Given the description of an element on the screen output the (x, y) to click on. 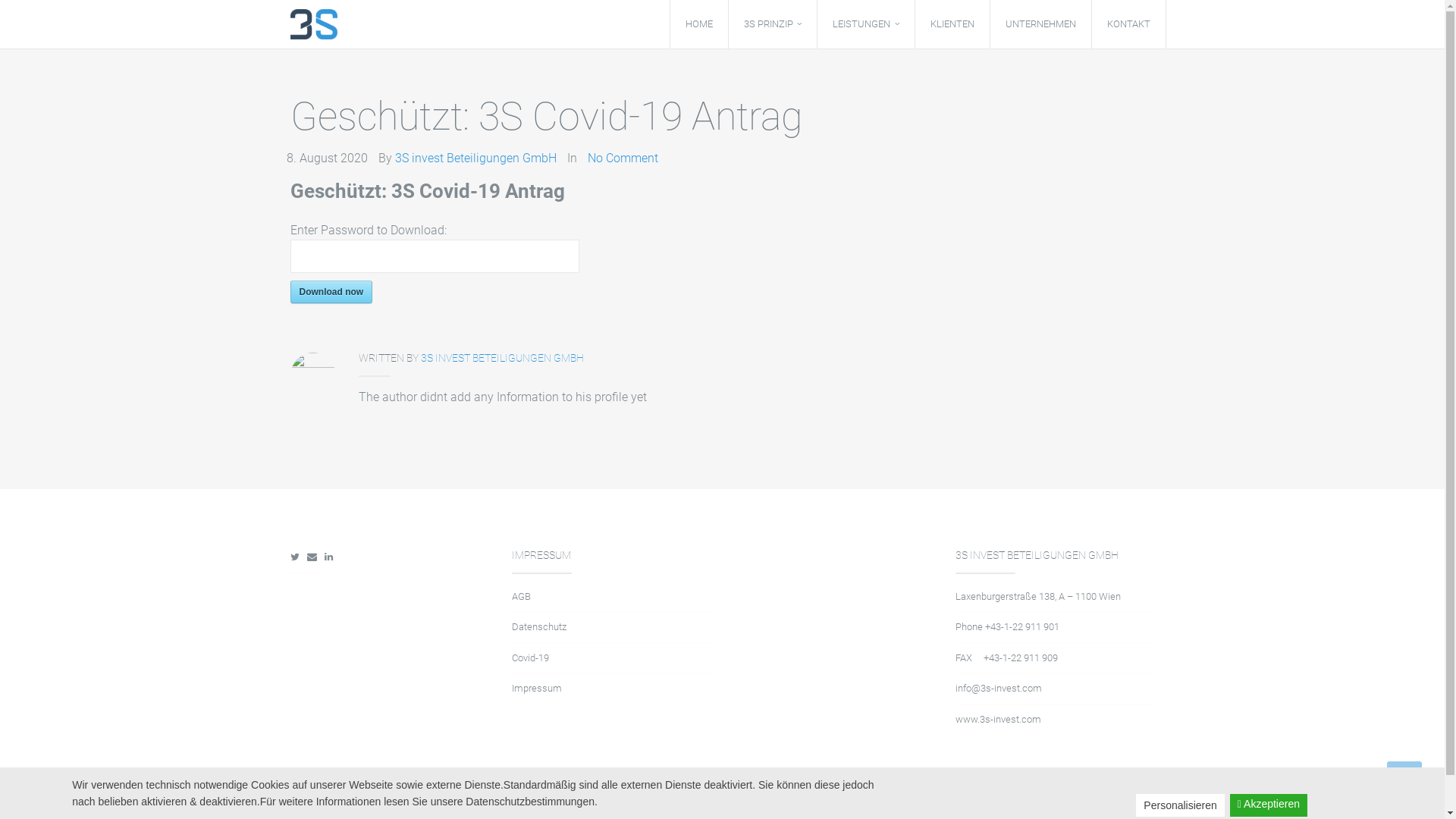
KONTAKT Element type: text (1128, 24)
Datenschutz Element type: text (538, 626)
Covid-19 Element type: text (530, 657)
UNTERNEHMEN Element type: text (1040, 24)
info@3s-invest.com Element type: text (998, 687)
Personalisieren Element type: text (1179, 804)
www.3s-invest.com Element type: text (998, 718)
3S PRINZIP Element type: text (772, 24)
AGB Element type: text (520, 596)
No Comment Element type: text (621, 157)
KLIENTEN Element type: text (951, 24)
3S invest Beteiligungen GmbH Element type: text (474, 157)
Download now Element type: text (330, 291)
HOME Element type: text (698, 24)
3S INVEST BETEILIGUNGEN GMBH Element type: text (501, 357)
Impressum Element type: text (536, 687)
LEISTUNGEN Element type: text (865, 24)
